Given the description of an element on the screen output the (x, y) to click on. 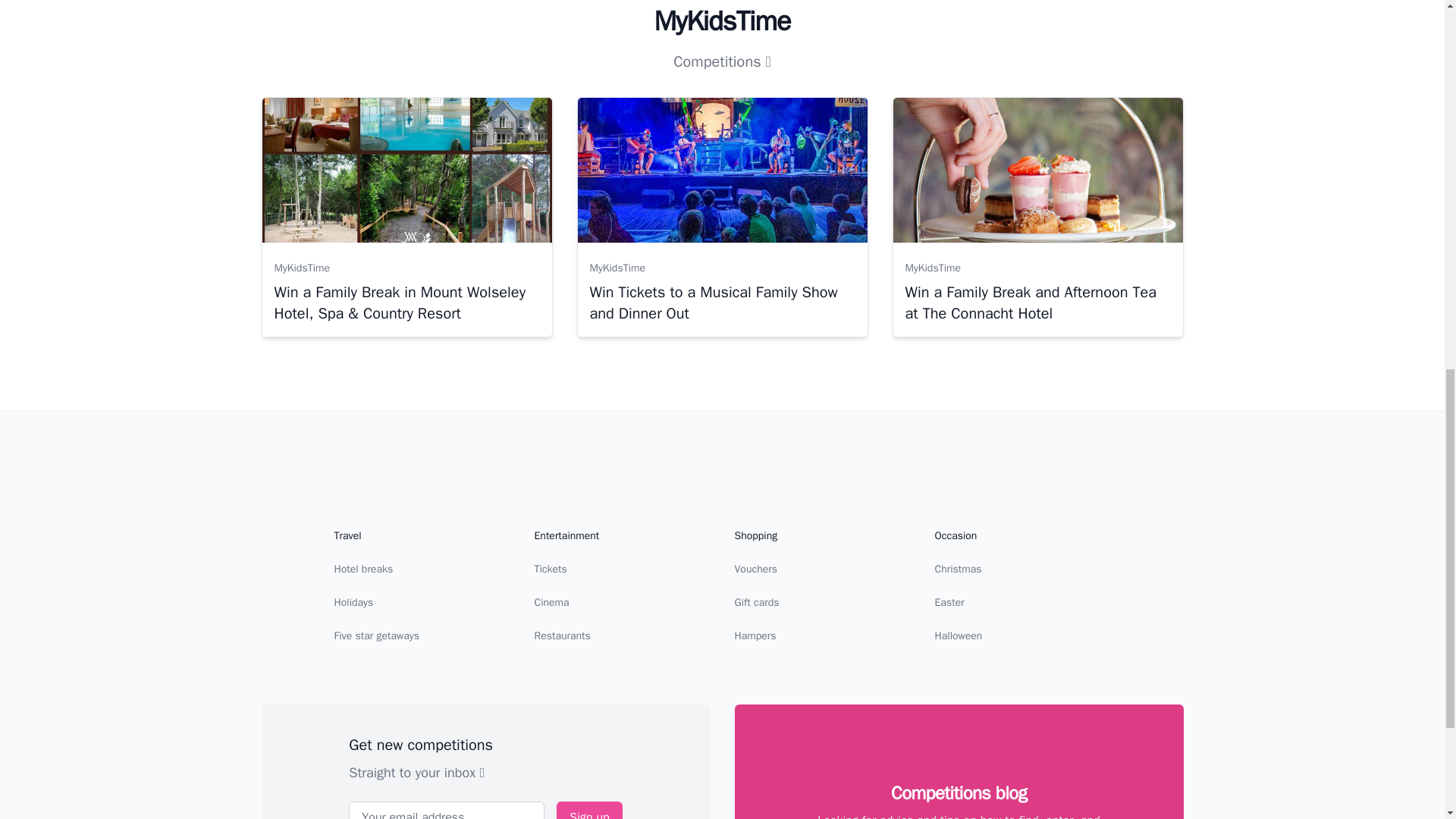
Hotel breaks (363, 568)
Easter (948, 602)
Halloween (957, 635)
Sign up (588, 810)
Hampers (754, 635)
Gift cards (755, 602)
Restaurants (561, 635)
Christmas (957, 568)
Tickets (550, 568)
Vouchers (754, 568)
Holidays (352, 602)
Five star getaways (376, 635)
Cinema (551, 602)
